Given the description of an element on the screen output the (x, y) to click on. 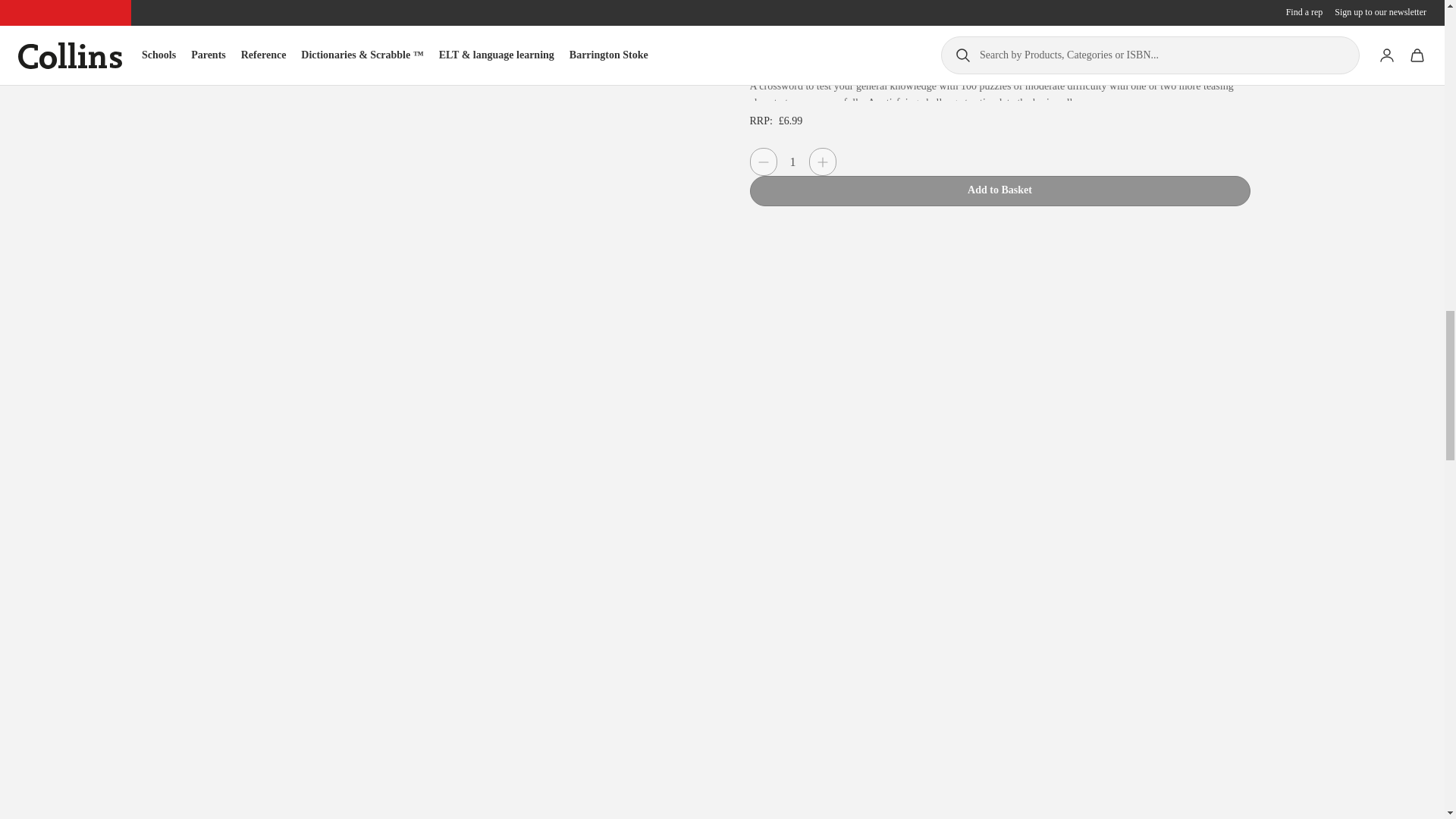
Decrease quantity (762, 161)
Increase quantity (821, 161)
Add to Basket (999, 191)
1 (791, 161)
